Given the description of an element on the screen output the (x, y) to click on. 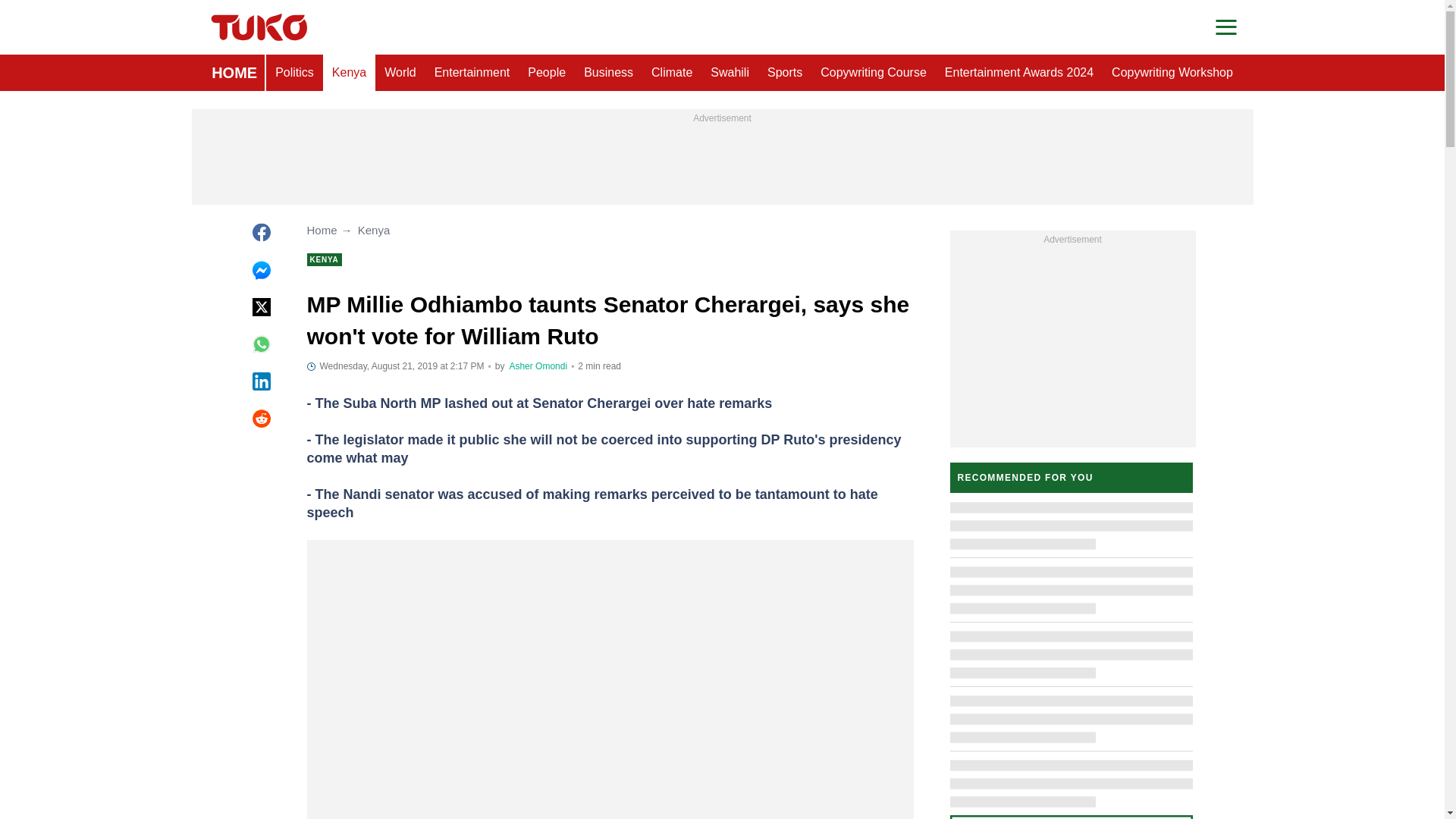
Entertainment Awards 2024 (1019, 72)
People (546, 72)
Climate (671, 72)
Politics (294, 72)
Kenya (349, 72)
Business (608, 72)
Copywriting Workshop (1171, 72)
World (400, 72)
Author page (537, 366)
HOME (234, 72)
